Given the description of an element on the screen output the (x, y) to click on. 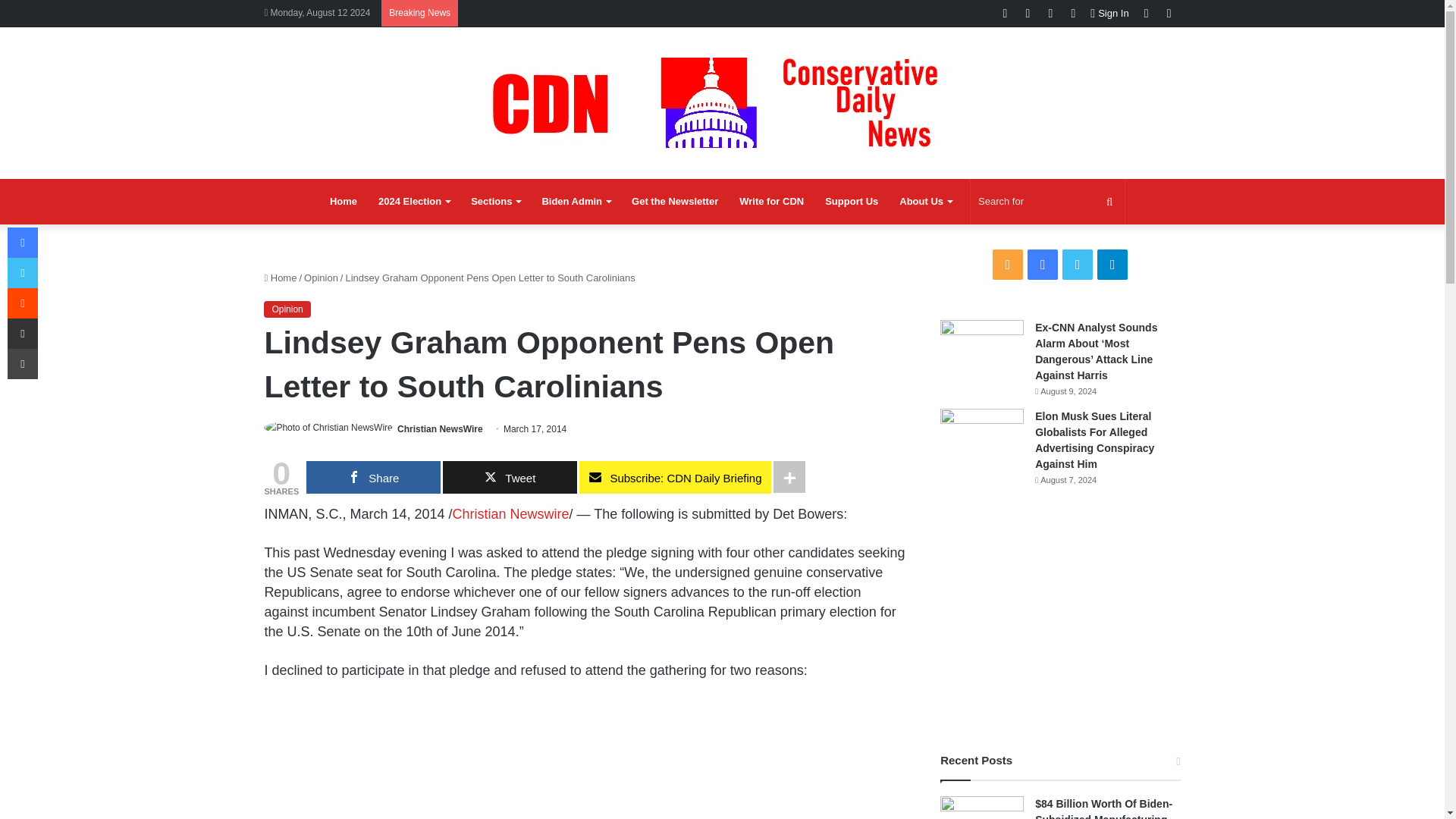
Biden Admin (576, 201)
Support CDN With a Small Donation (850, 201)
Get the Newsletter (675, 201)
2024 Election (414, 201)
Christian NewsWire (440, 429)
Advertisement (584, 759)
Home (343, 201)
Conservative Daily News (721, 102)
Become a CDN Contributor (771, 201)
Sections (495, 201)
